Given the description of an element on the screen output the (x, y) to click on. 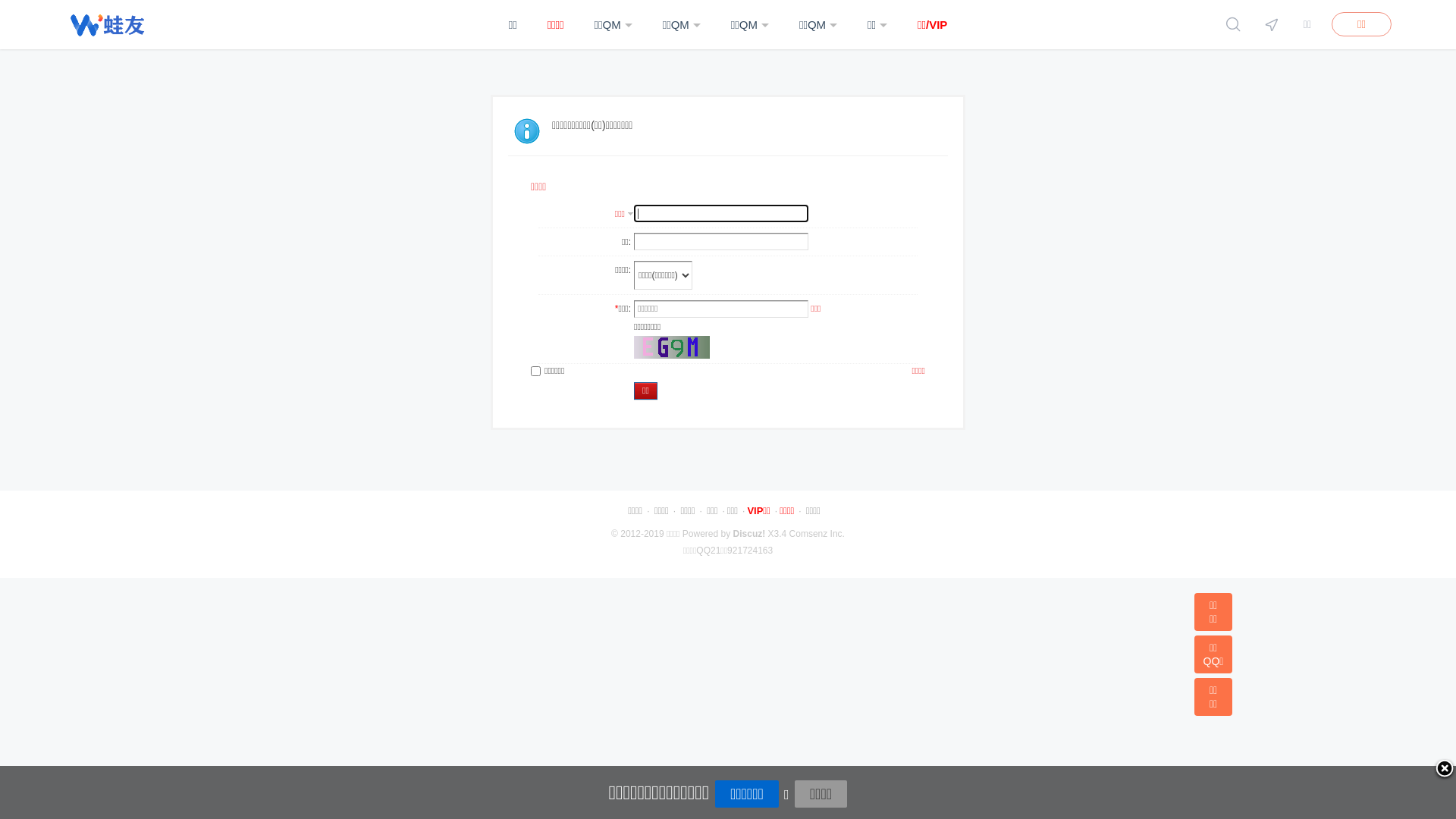
Comsenz Inc. Element type: text (816, 533)
Discuz! Element type: text (749, 533)
